Given the description of an element on the screen output the (x, y) to click on. 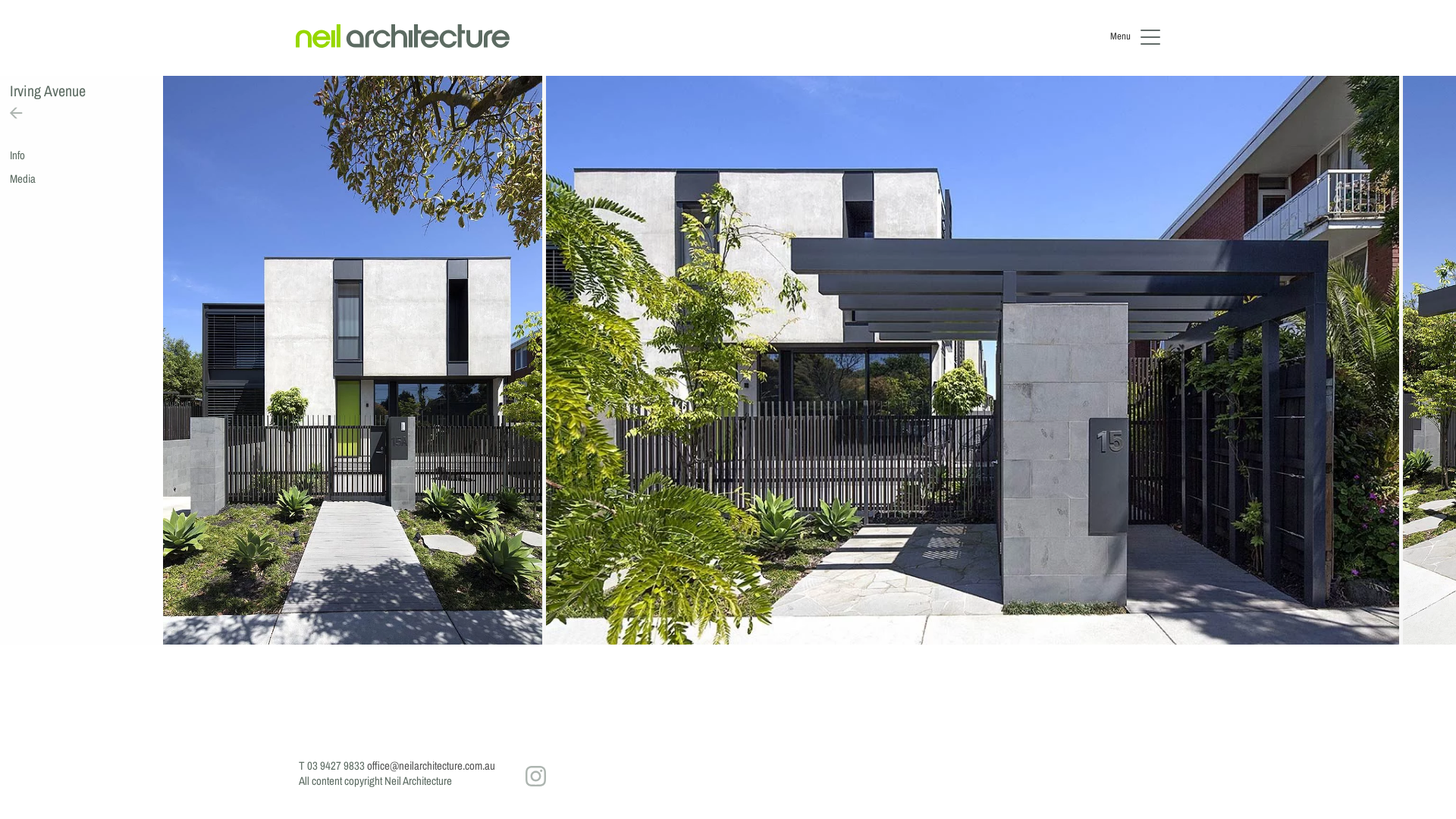
office@neilarchitecture.com.au Element type: text (431, 765)
Instagram Element type: hover (535, 775)
Neil Architecture Element type: hover (402, 37)
